Given the description of an element on the screen output the (x, y) to click on. 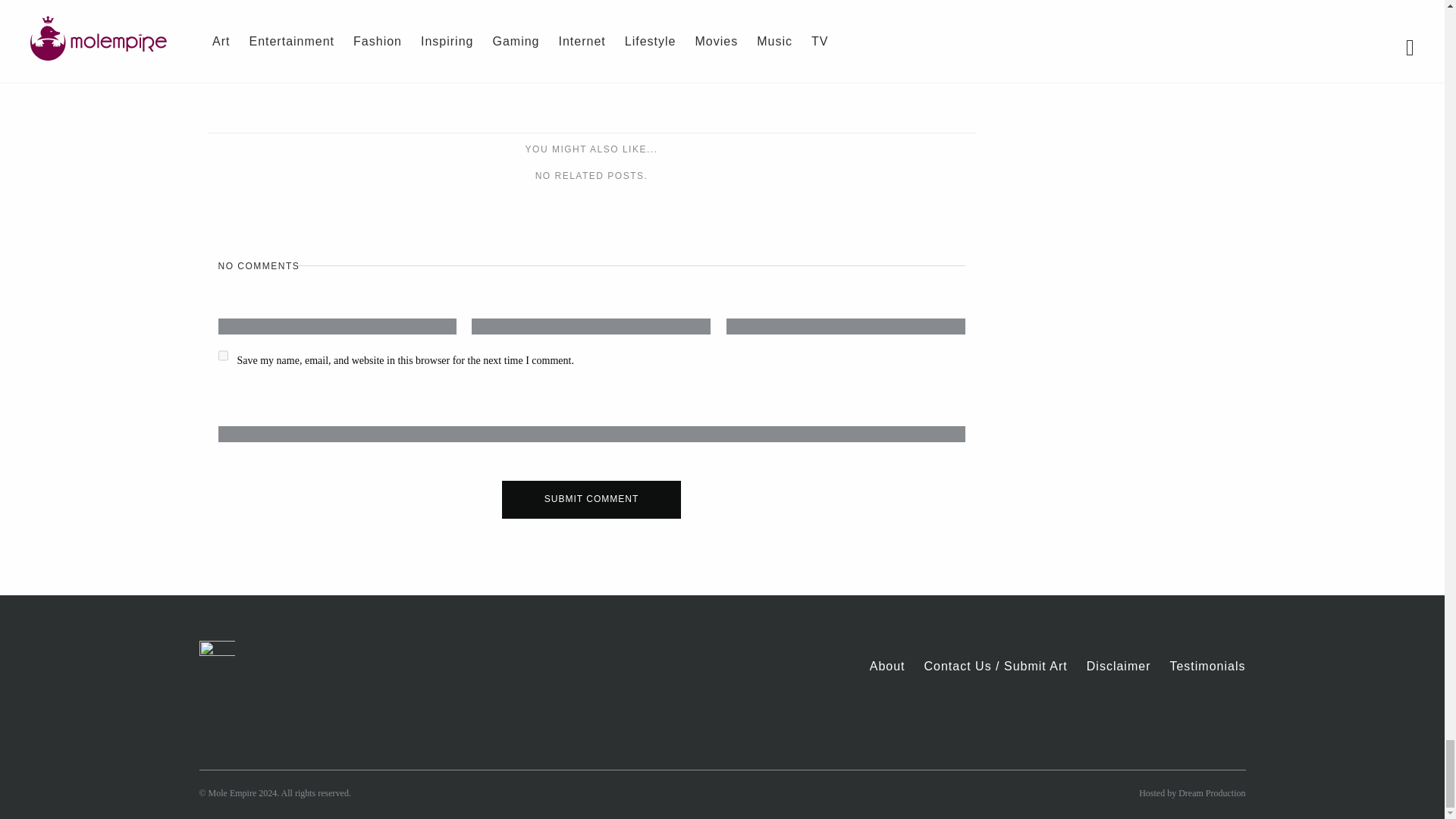
Submit comment (591, 499)
Submit comment (591, 499)
yes (223, 355)
